Given the description of an element on the screen output the (x, y) to click on. 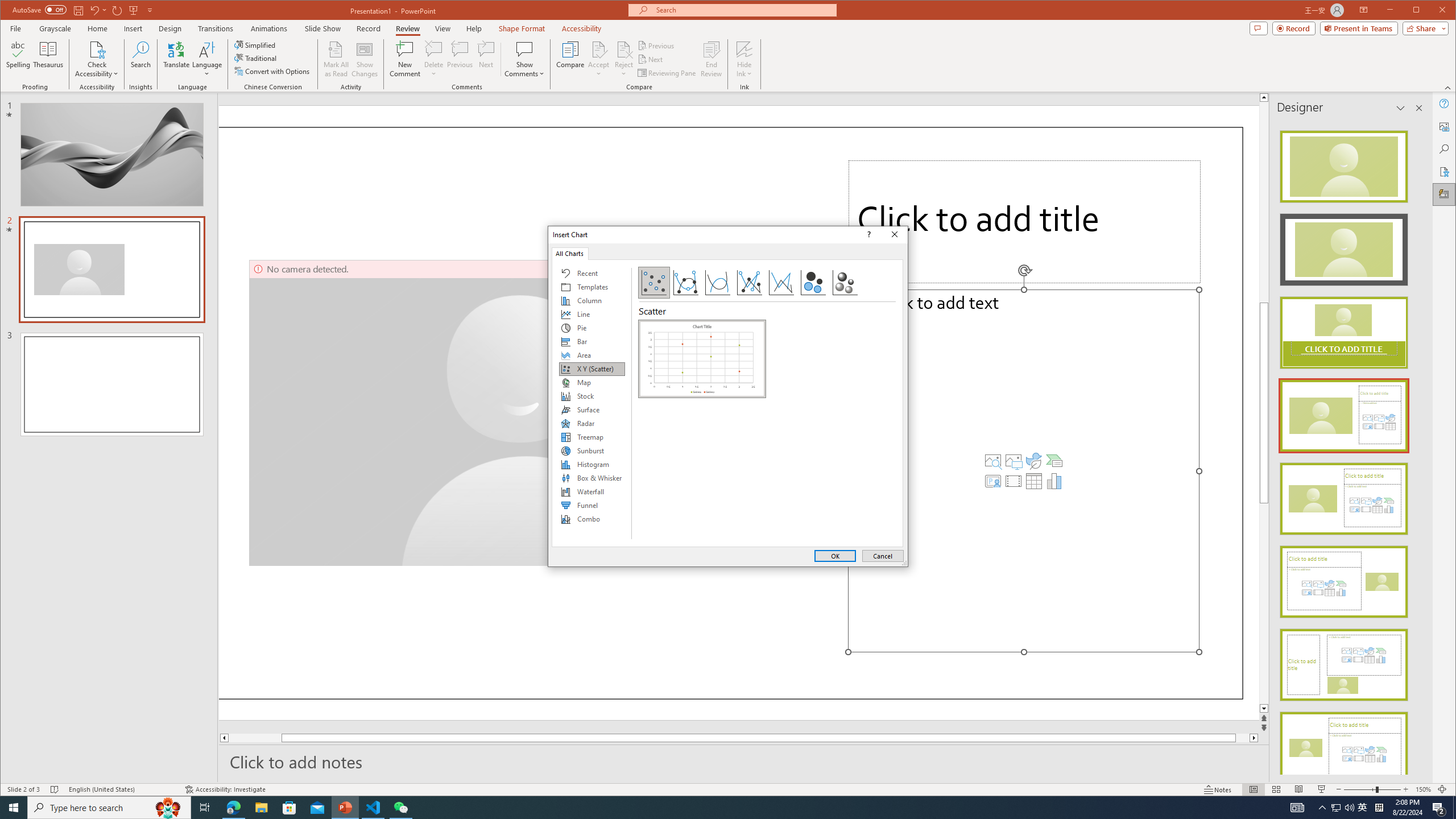
Check Accessibility (96, 48)
Insert Chart (1053, 480)
Microsoft Store (289, 807)
Page up (1263, 201)
Pictures (1013, 460)
Surface (591, 409)
Delete (433, 59)
Stock (591, 395)
Next (651, 59)
Visual Studio Code - 1 running window (373, 807)
Show Changes (365, 59)
Search (140, 59)
Design Idea (1343, 744)
